Given the description of an element on the screen output the (x, y) to click on. 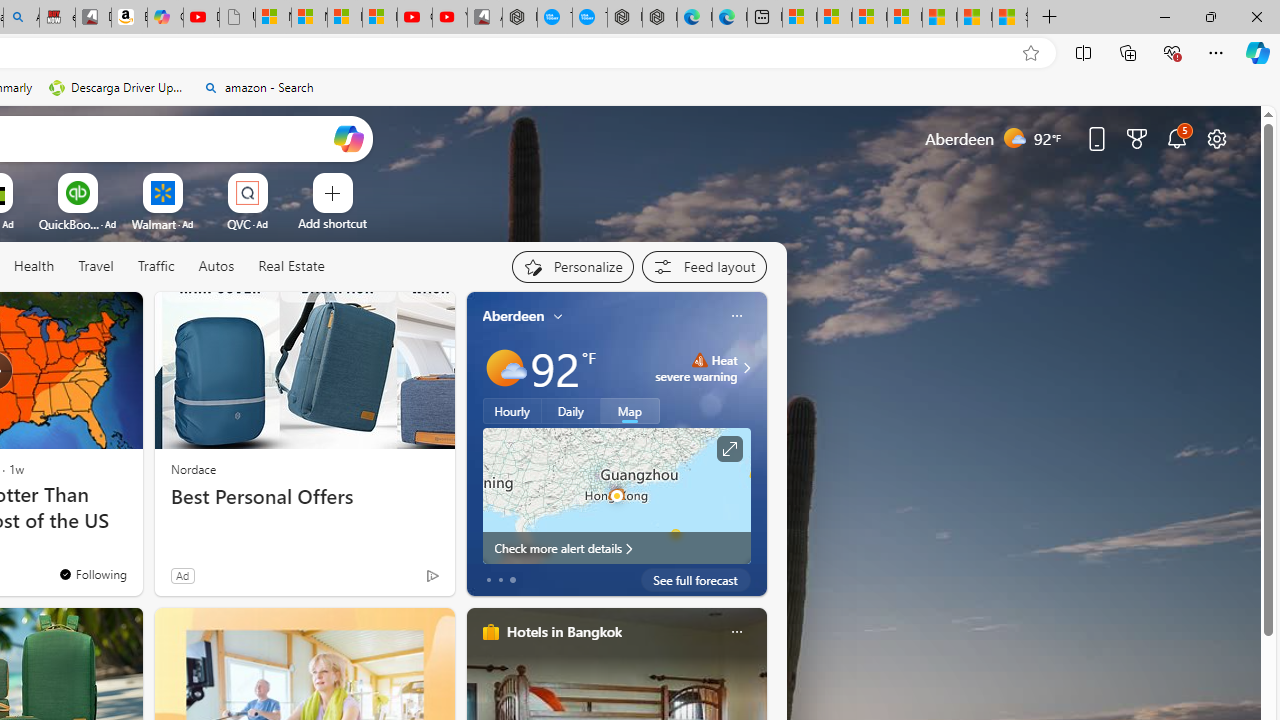
Settings and more (Alt+F) (1215, 52)
Larger map  (616, 495)
Close (1256, 16)
Real Estate (291, 265)
Heat - Severe Heat severe warning (696, 367)
Heat - Severe (699, 359)
Check more alert details (616, 547)
Feed settings (703, 266)
Minimize (1164, 16)
Mostly sunny (504, 368)
Mostly sunny (504, 368)
Untitled (237, 17)
My location (558, 315)
Health (34, 265)
Ad (182, 575)
